Given the description of an element on the screen output the (x, y) to click on. 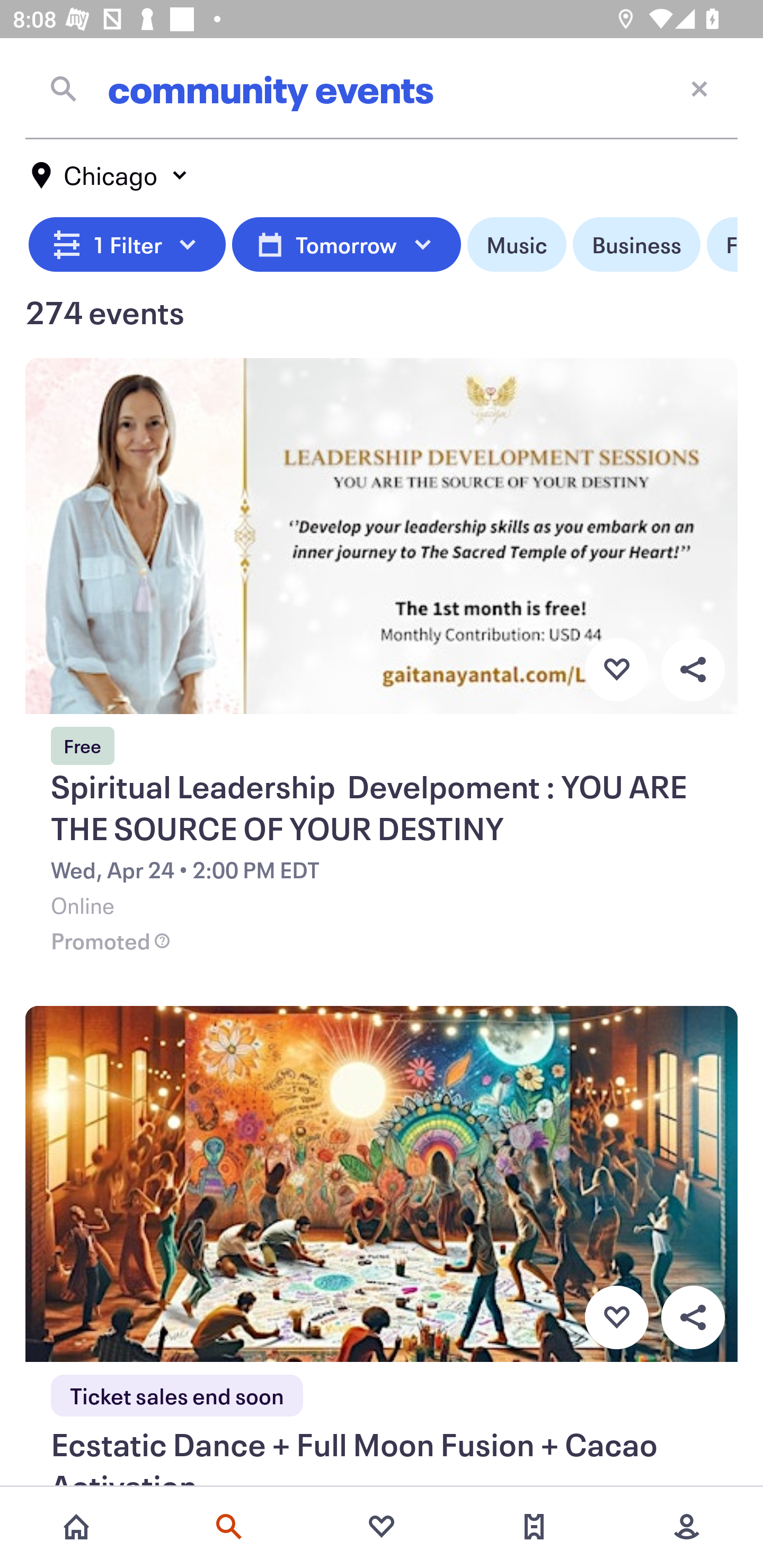
community events Close current screen (381, 88)
Close current screen (699, 88)
Chicago (110, 175)
1 Filter (126, 244)
Tomorrow (345, 244)
Music (516, 244)
Business (636, 244)
Favorite button (616, 669)
Overflow menu button (692, 669)
Favorite button (616, 1317)
Overflow menu button (692, 1317)
Home (76, 1526)
Search events (228, 1526)
Favorites (381, 1526)
Tickets (533, 1526)
More (686, 1526)
